Given the description of an element on the screen output the (x, y) to click on. 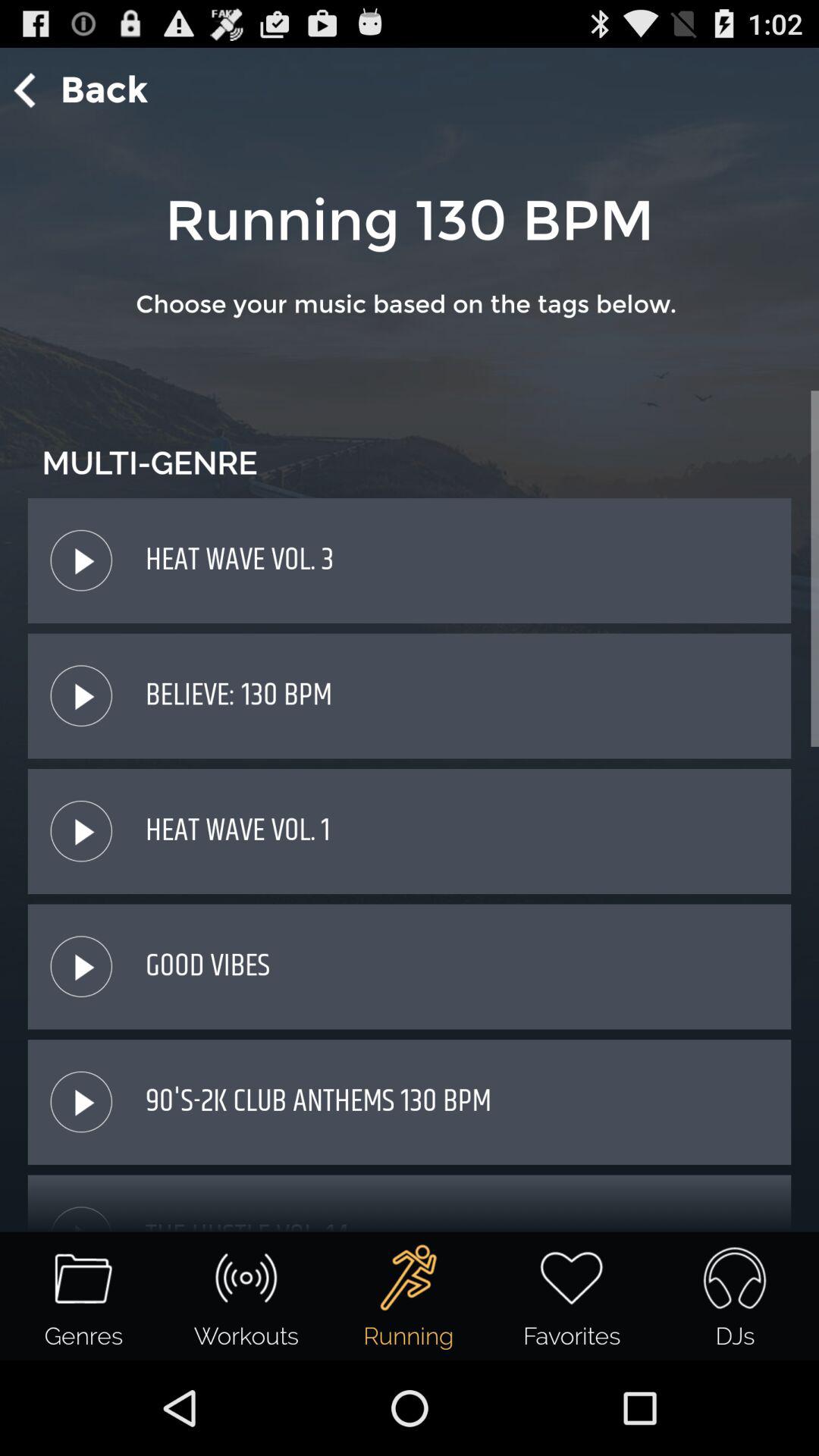
select the headset icon (734, 1277)
select the running icon (409, 1277)
select the second play icon (81, 695)
click on the workouts option (245, 1277)
tap the icon just above genres (81, 1209)
click on the icon which is above running (409, 1277)
click on the play icon below multigenre (81, 560)
click on the favourites icon which is at the bottom (571, 1296)
select the pause icon from the last to 2nd (81, 966)
click on the play icon which is beside good vibes (81, 966)
